Given the description of an element on the screen output the (x, y) to click on. 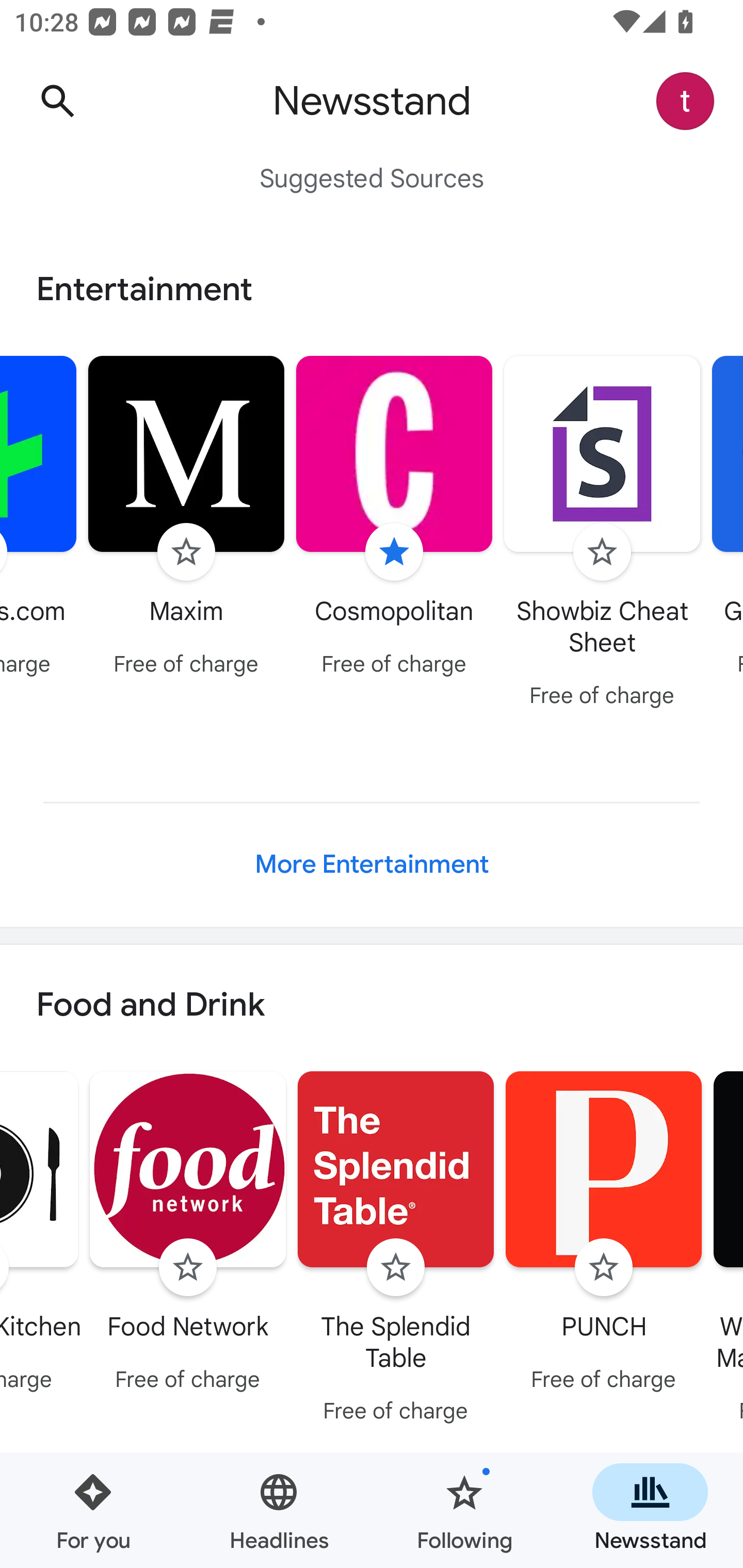
Search (57, 100)
Entertainment (371, 288)
Follow Maxim Free of charge (186, 517)
Unfollow Cosmopolitan Free of charge (394, 517)
Follow Showbiz Cheat Sheet Free of charge (602, 534)
Follow (186, 551)
Unfollow (393, 551)
Follow (601, 551)
More Entertainment (371, 864)
Food and Drink (371, 1005)
Follow Food Network Free of charge (187, 1234)
Follow The Splendid Table Free of charge (395, 1250)
Follow PUNCH Free of charge (604, 1234)
Follow (187, 1267)
Follow (395, 1267)
Follow (603, 1267)
For you (92, 1509)
Headlines (278, 1509)
Following (464, 1509)
Newsstand (650, 1509)
